Given the description of an element on the screen output the (x, y) to click on. 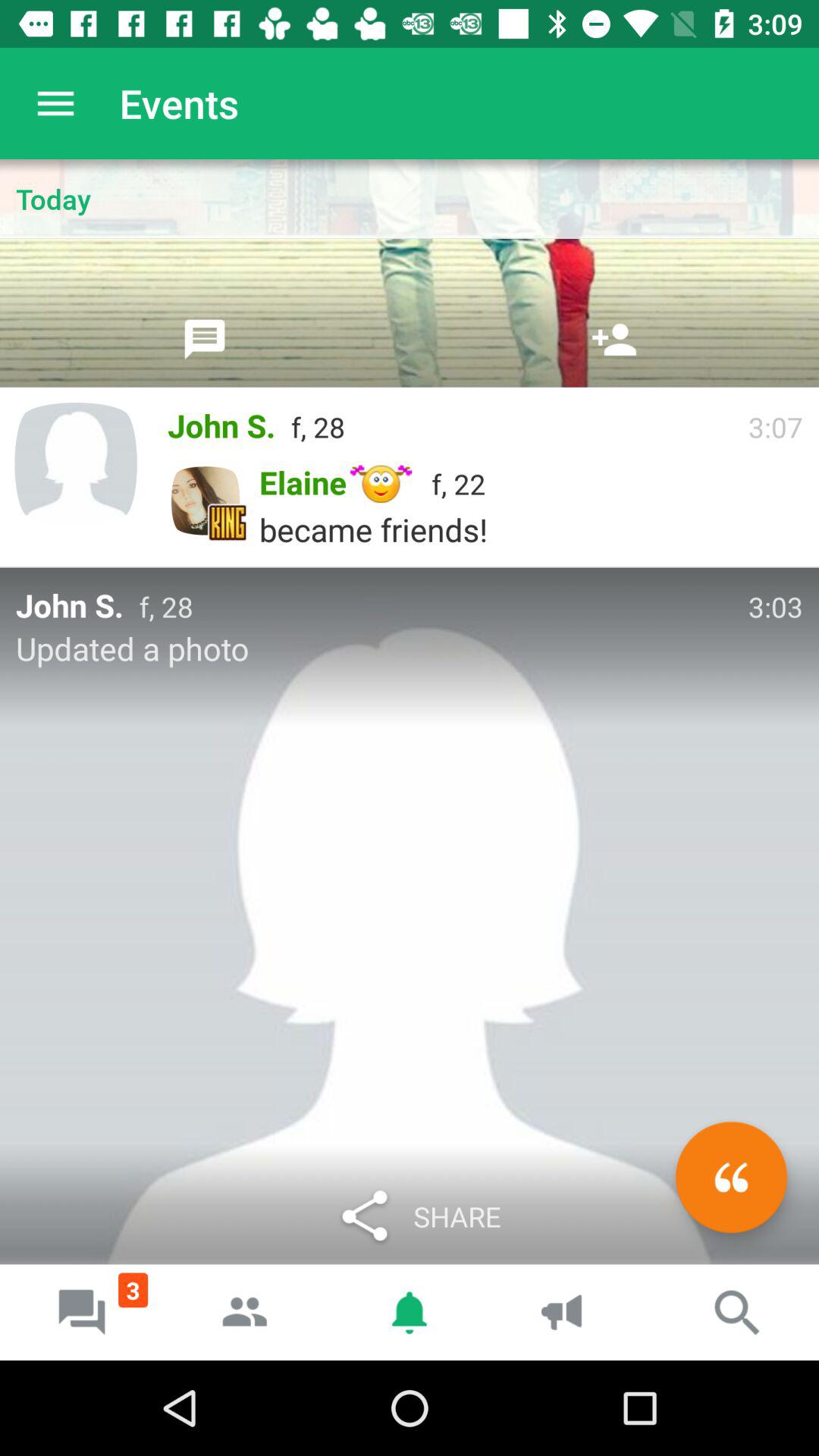
add to friends (614, 339)
